Given the description of an element on the screen output the (x, y) to click on. 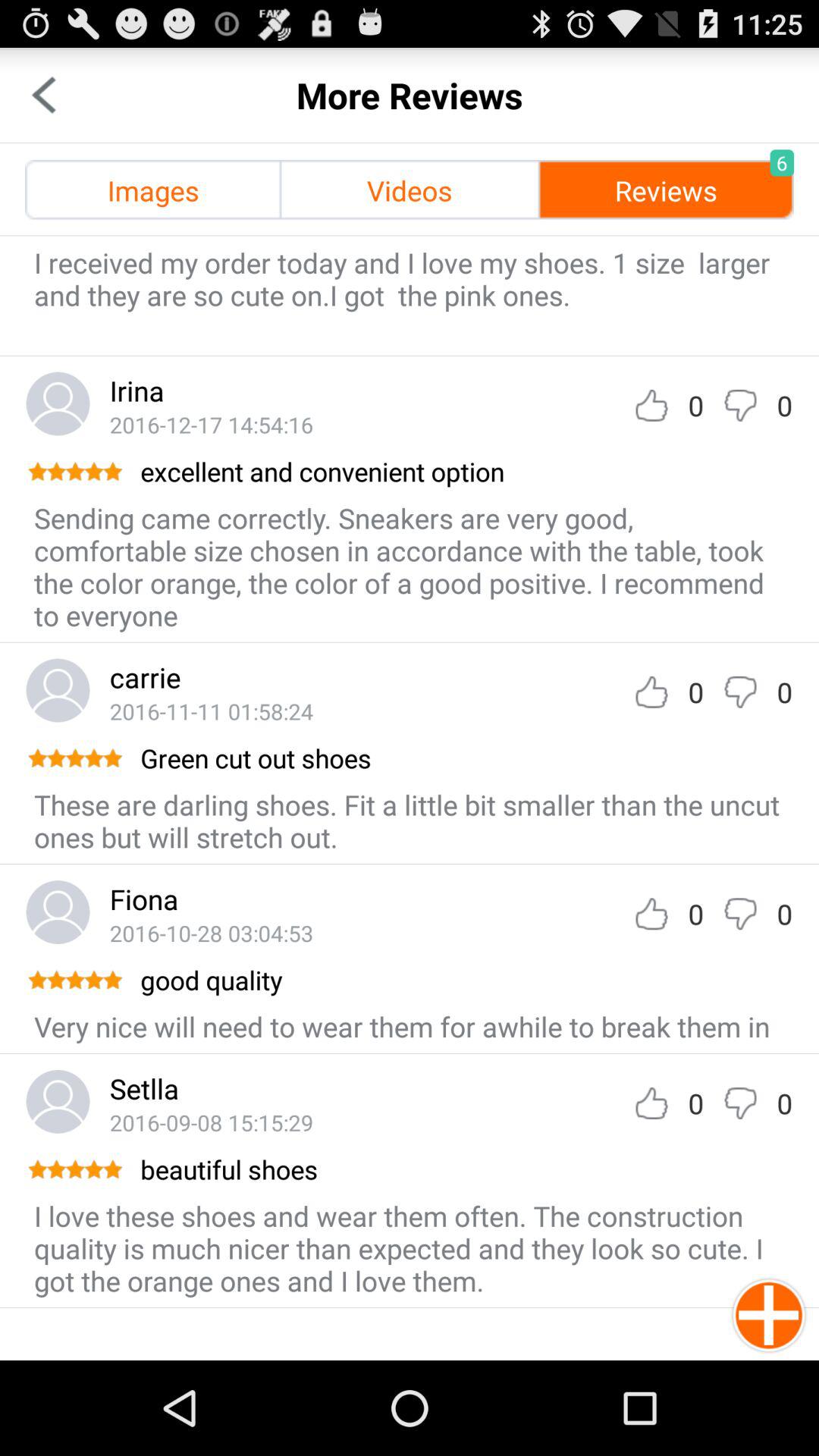
click dislike symbol (740, 1103)
